Given the description of an element on the screen output the (x, y) to click on. 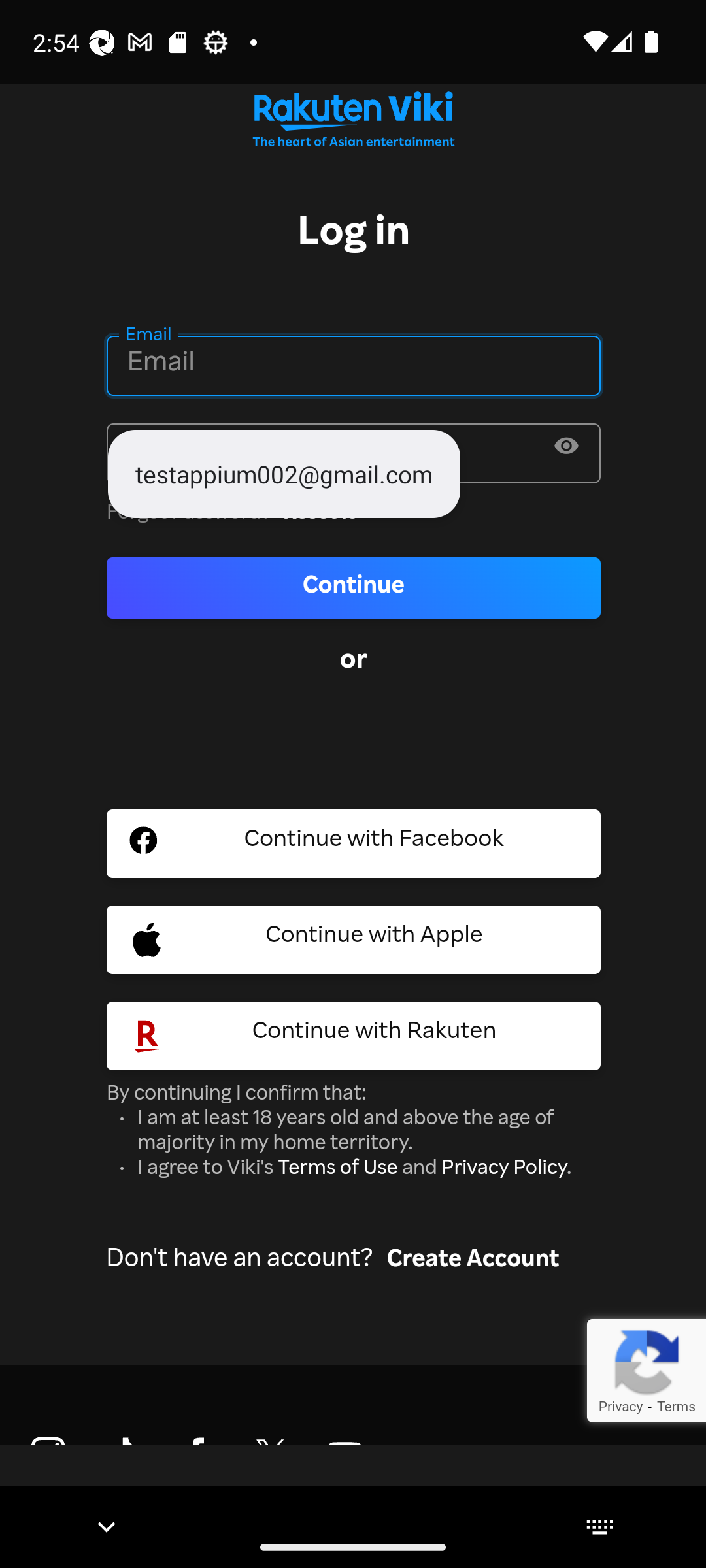
testappium002@gmail.com (284, 473)
